Given the description of an element on the screen output the (x, y) to click on. 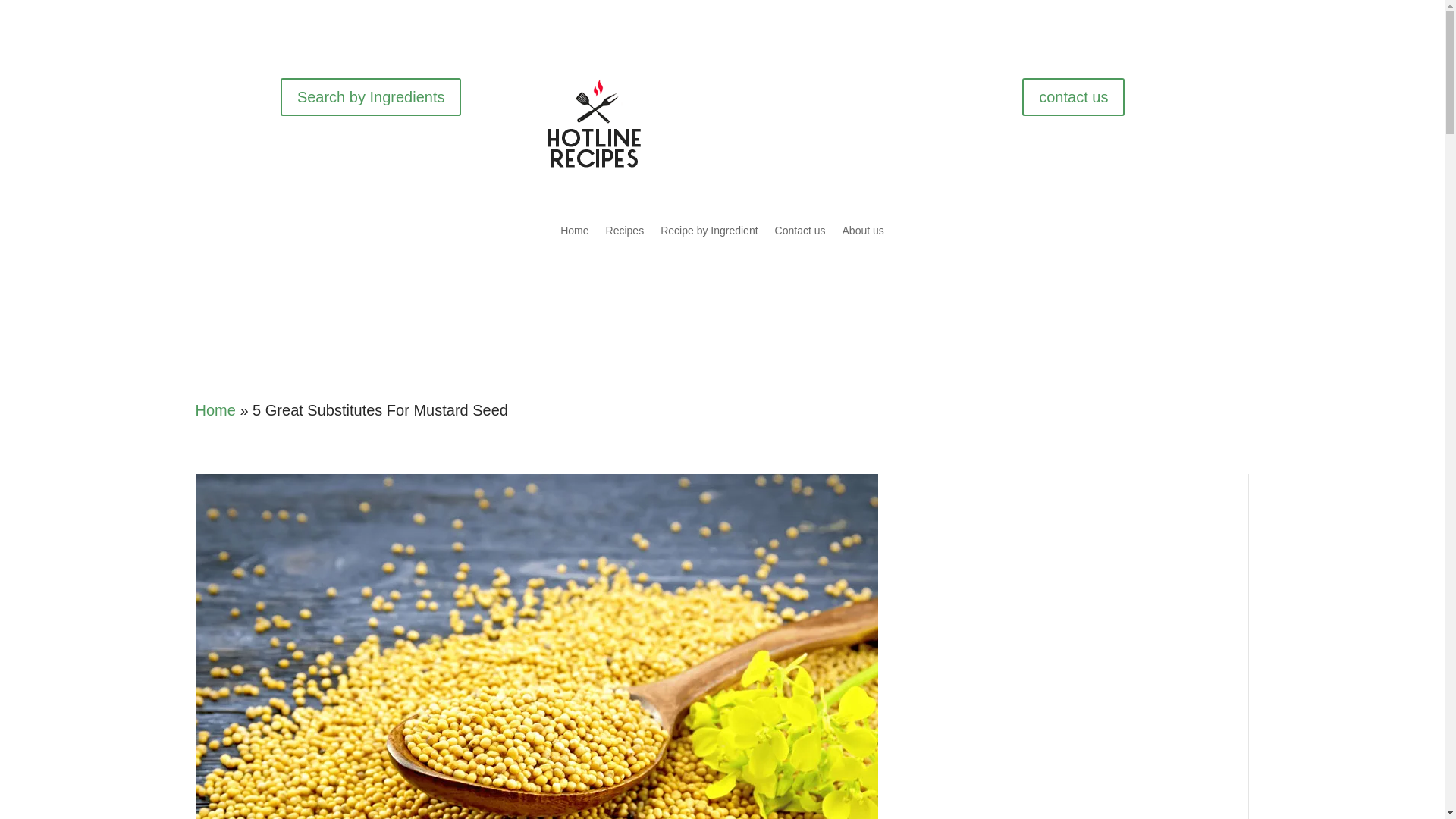
Search by Ingredients (371, 96)
contact us (1073, 96)
Recipes (625, 233)
About us (863, 233)
Recipe by Ingredient (709, 233)
interpreter-icon-19 (594, 122)
Contact us (799, 233)
Home (574, 233)
Home (215, 410)
